Given the description of an element on the screen output the (x, y) to click on. 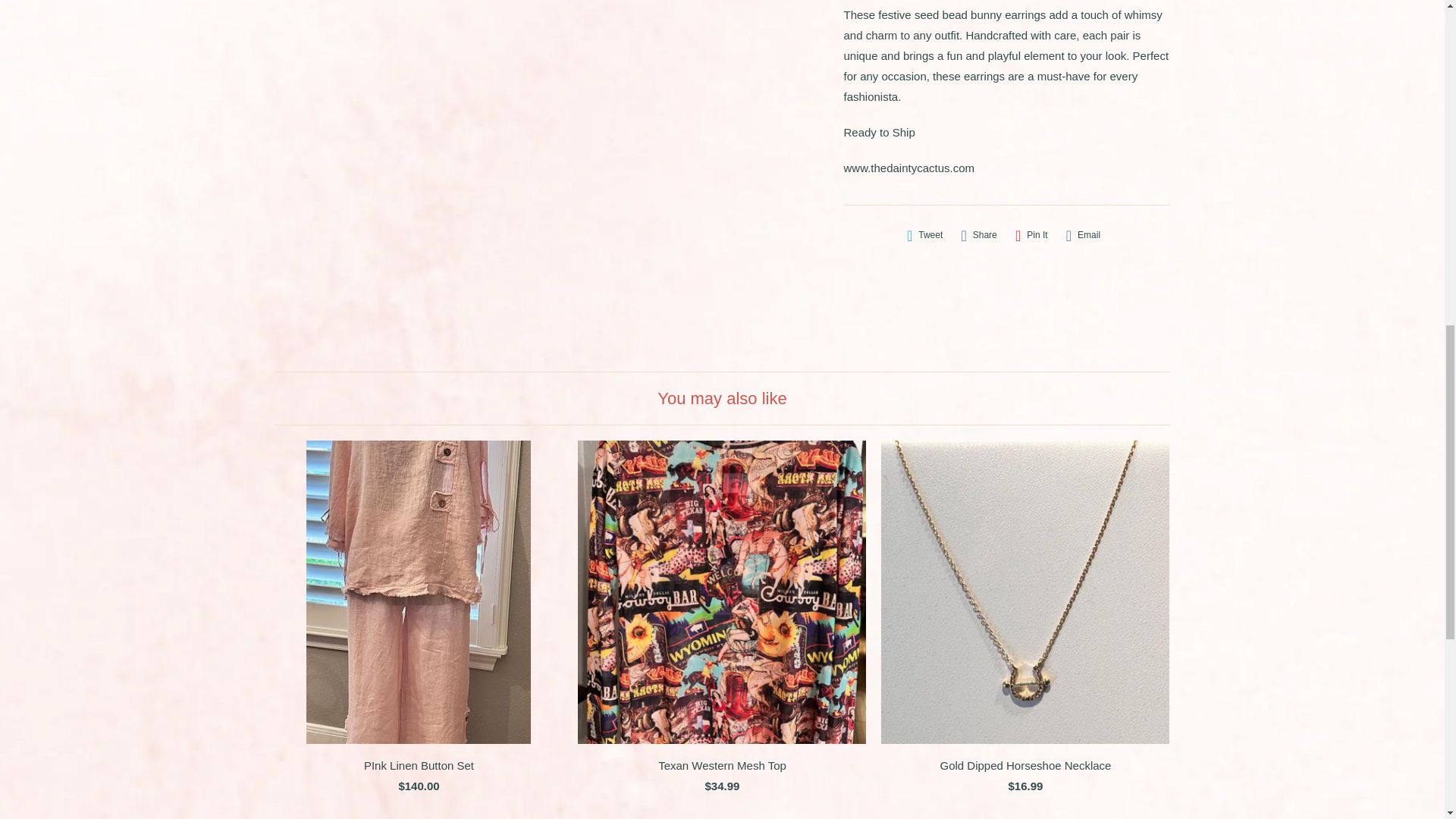
Email this to a friend (1083, 235)
Share this on Pinterest (1031, 235)
Share this on Twitter (924, 235)
Share this on Facebook (978, 235)
